Given the description of an element on the screen output the (x, y) to click on. 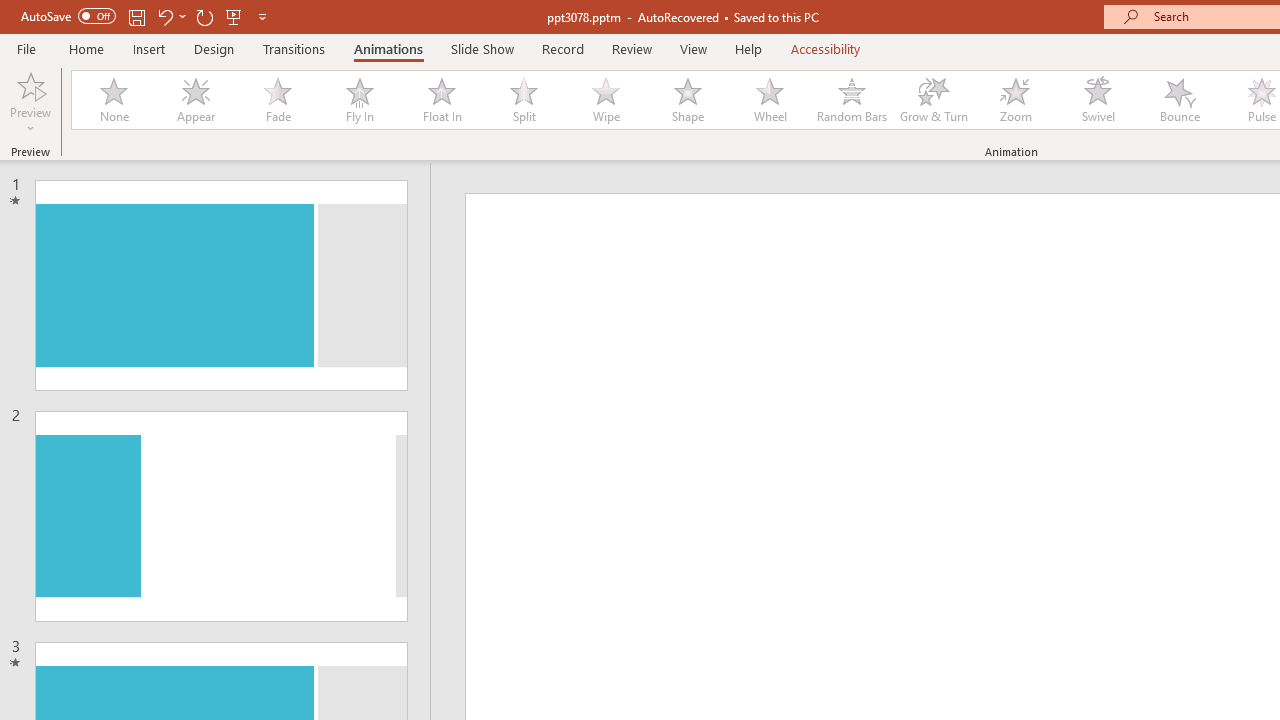
Random Bars (852, 100)
Swivel (1098, 100)
Fly In (359, 100)
Shape (687, 100)
Split (523, 100)
Float In (441, 100)
